Given the description of an element on the screen output the (x, y) to click on. 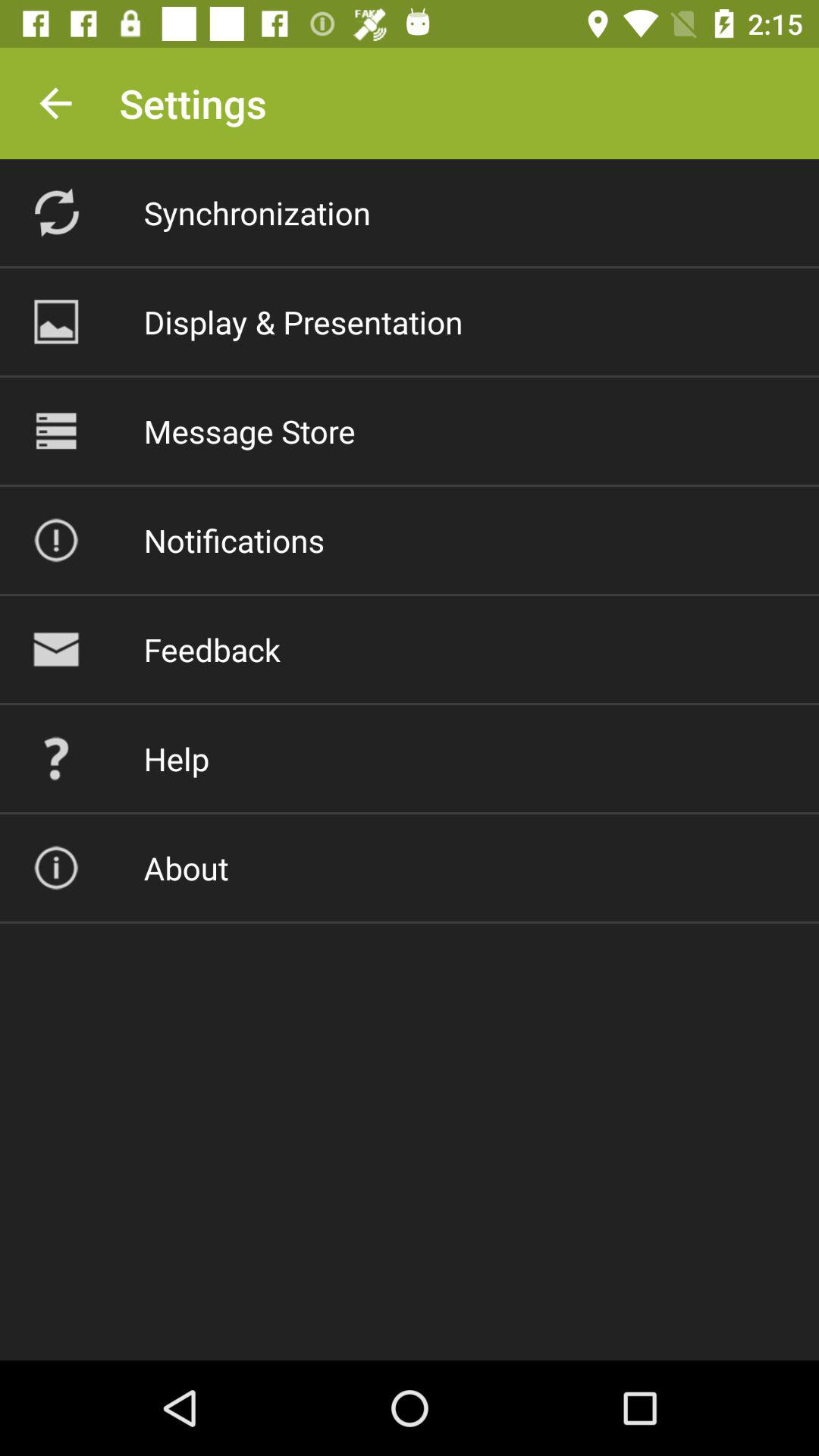
click icon above the notifications item (249, 430)
